Given the description of an element on the screen output the (x, y) to click on. 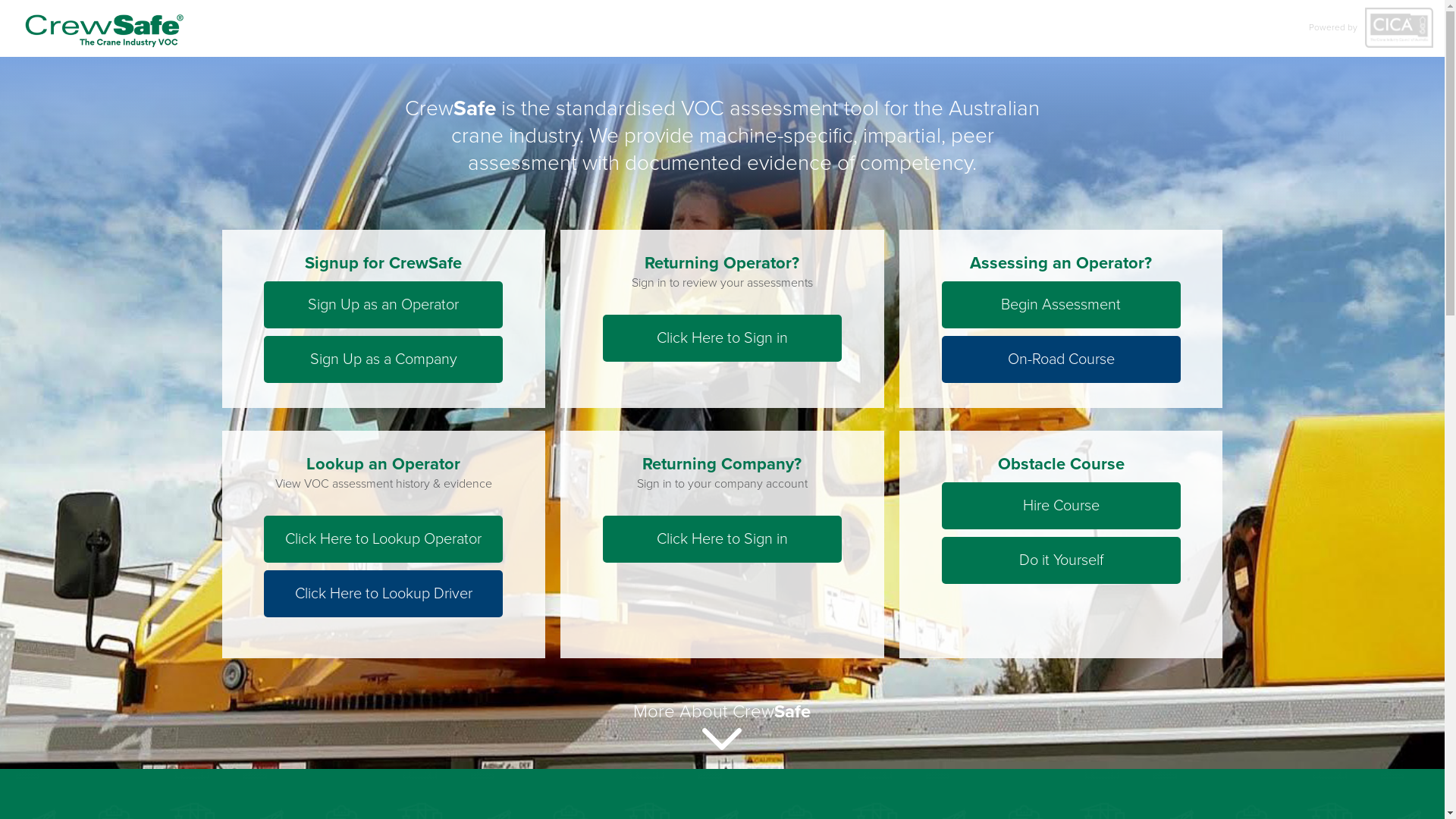
Click Here to Lookup Driver Element type: text (382, 593)
Click Here to Lookup Operator Element type: text (382, 538)
More About CrewSafe Element type: text (721, 724)
Hire Course Element type: text (1060, 505)
Click Here to Sign in Element type: text (721, 337)
Do it Yourself Element type: text (1060, 559)
Begin Assessment Element type: text (1060, 304)
Sign Up as a Company Element type: text (382, 358)
Sign Up as an Operator Element type: text (382, 304)
Click Here to Sign in Element type: text (721, 538)
On-Road Course Element type: text (1060, 358)
